Given the description of an element on the screen output the (x, y) to click on. 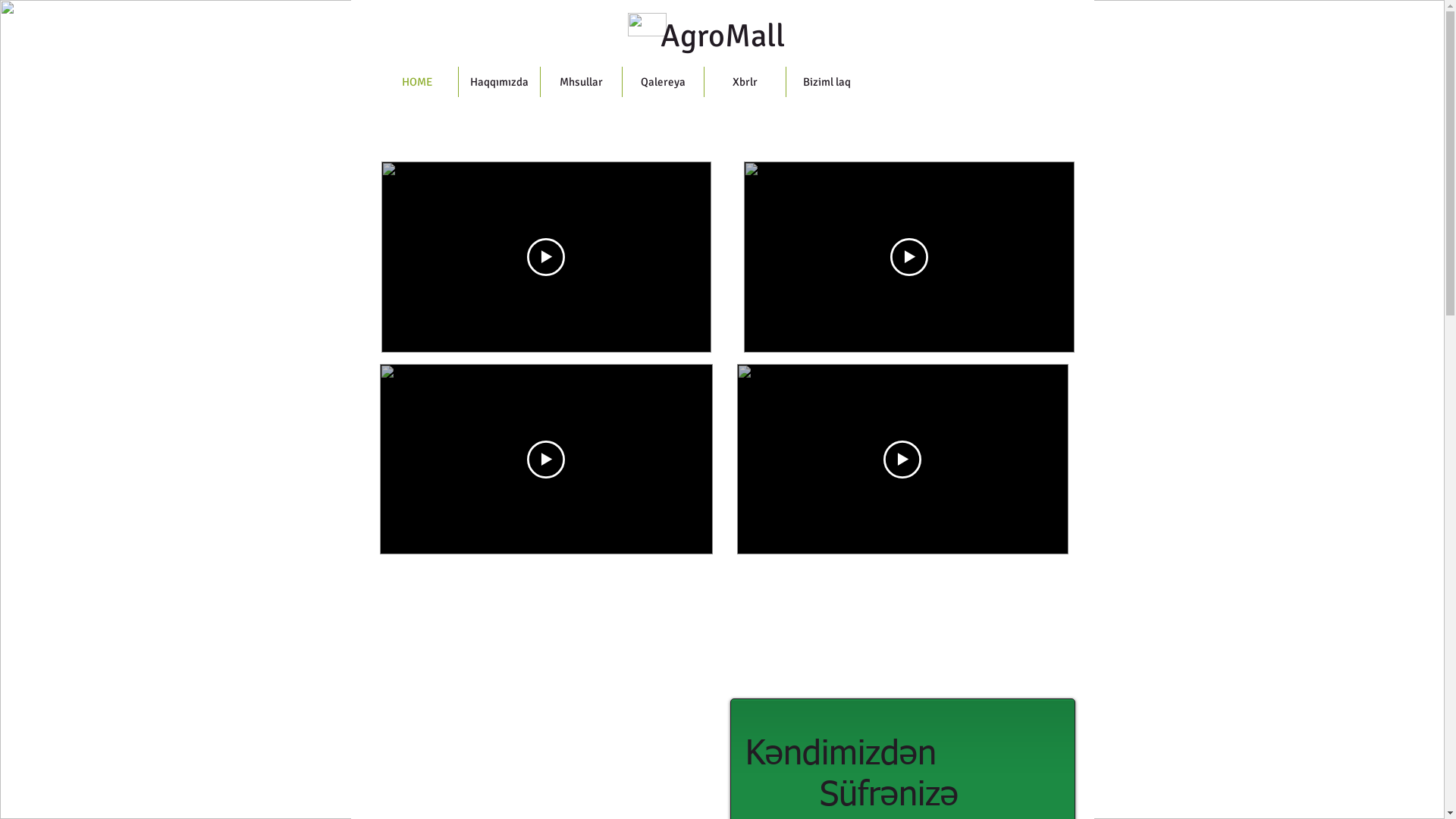
HOME Element type: text (417, 81)
Qalereya Element type: text (661, 81)
AgroMall Element type: text (722, 35)
